Given the description of an element on the screen output the (x, y) to click on. 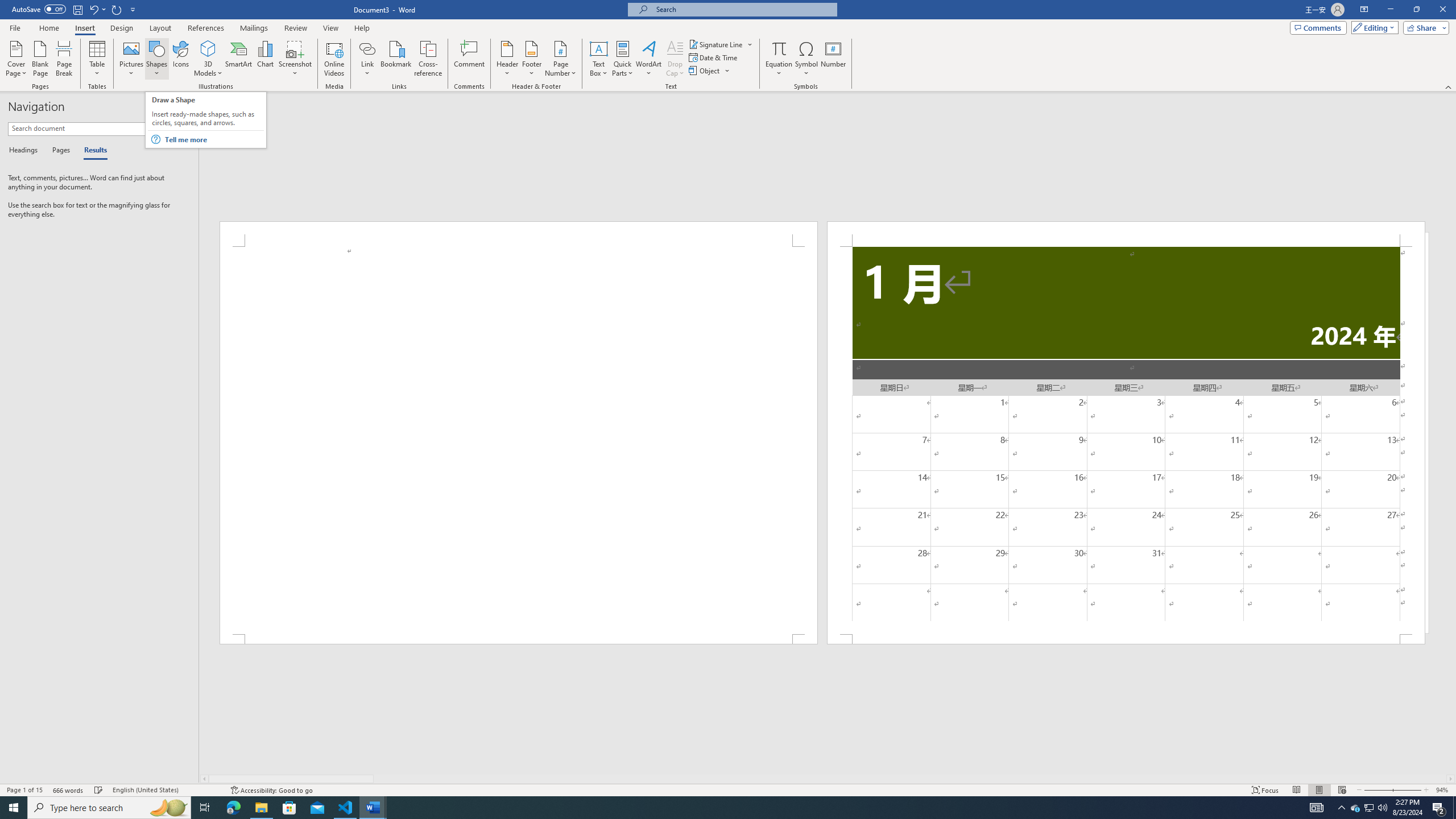
Icons (180, 58)
Screenshot (295, 58)
Number... (833, 58)
Page Break (63, 58)
Signature Line (716, 44)
Header (507, 58)
